Given the description of an element on the screen output the (x, y) to click on. 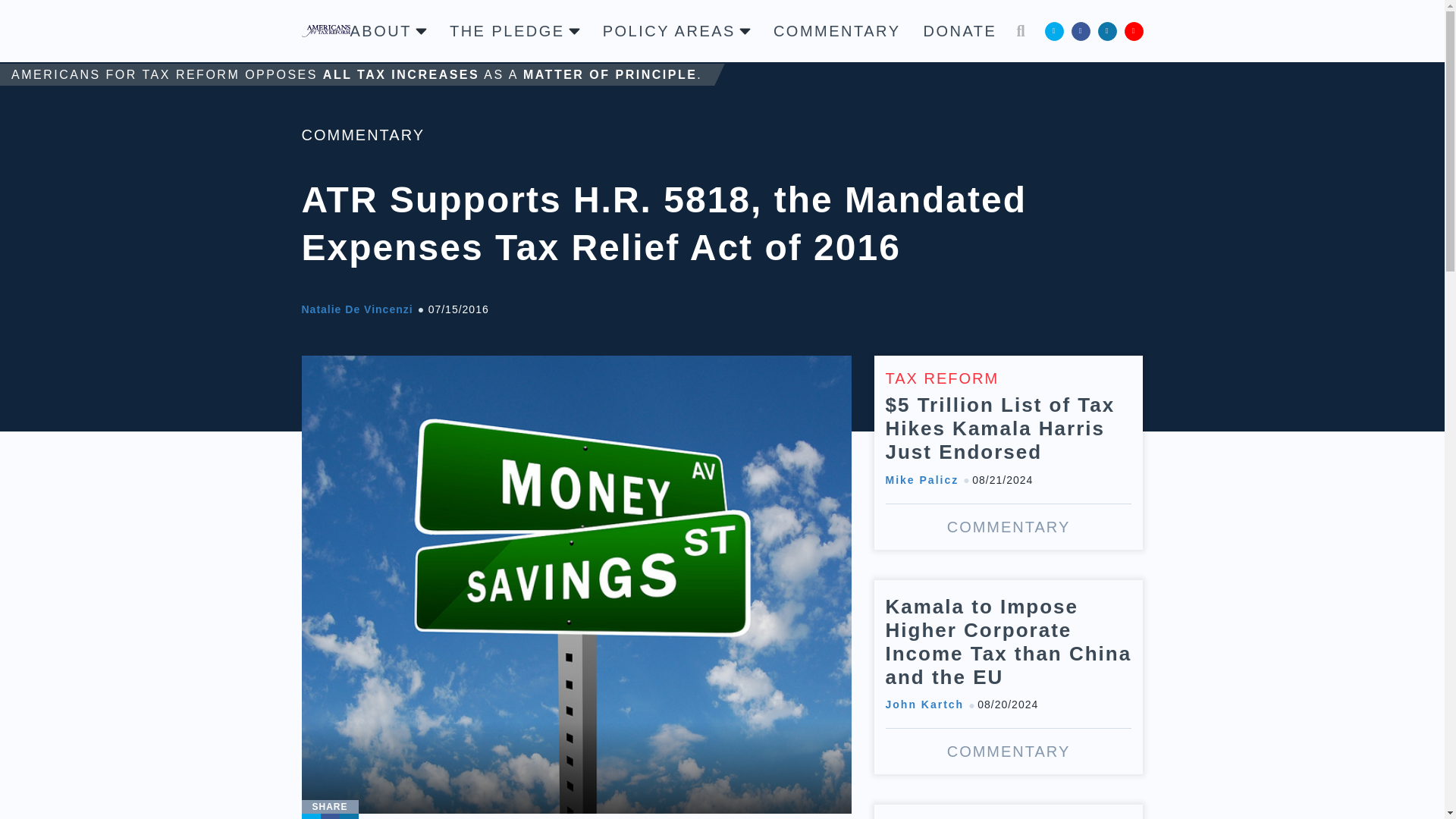
COMMENTARY (837, 30)
POLICY AREAS (676, 30)
DONATE (960, 30)
LinkedIn (348, 816)
Twitter (1054, 30)
THE PLEDGE (514, 30)
YouTube (1133, 30)
Twitter (310, 816)
LinkedIn (1106, 30)
